Given the description of an element on the screen output the (x, y) to click on. 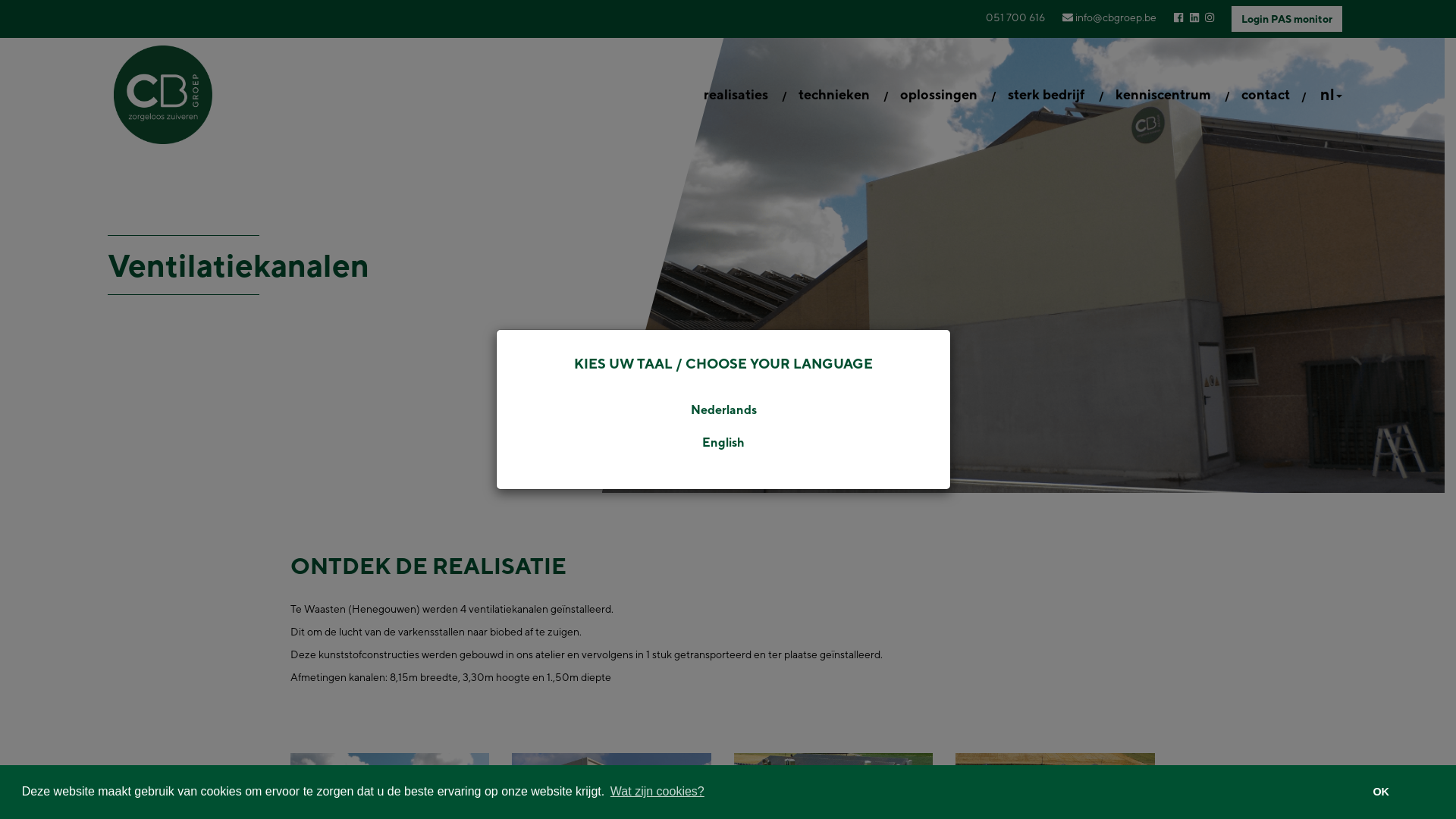
sterk bedrijf Element type: text (1046, 94)
info@cbgroep.be Element type: text (1109, 17)
technieken Element type: text (834, 94)
English Element type: text (723, 442)
nl Element type: text (1330, 94)
OK Element type: text (1380, 791)
realisaties Element type: text (735, 94)
Wat zijn cookies? Element type: text (657, 791)
051 700 616 Element type: text (1014, 17)
oplossingen Element type: text (938, 94)
Login PAS monitor Element type: text (1286, 18)
kenniscentrum Element type: text (1163, 94)
Nederlands Element type: text (723, 410)
contact Element type: text (1265, 94)
